Given the description of an element on the screen output the (x, y) to click on. 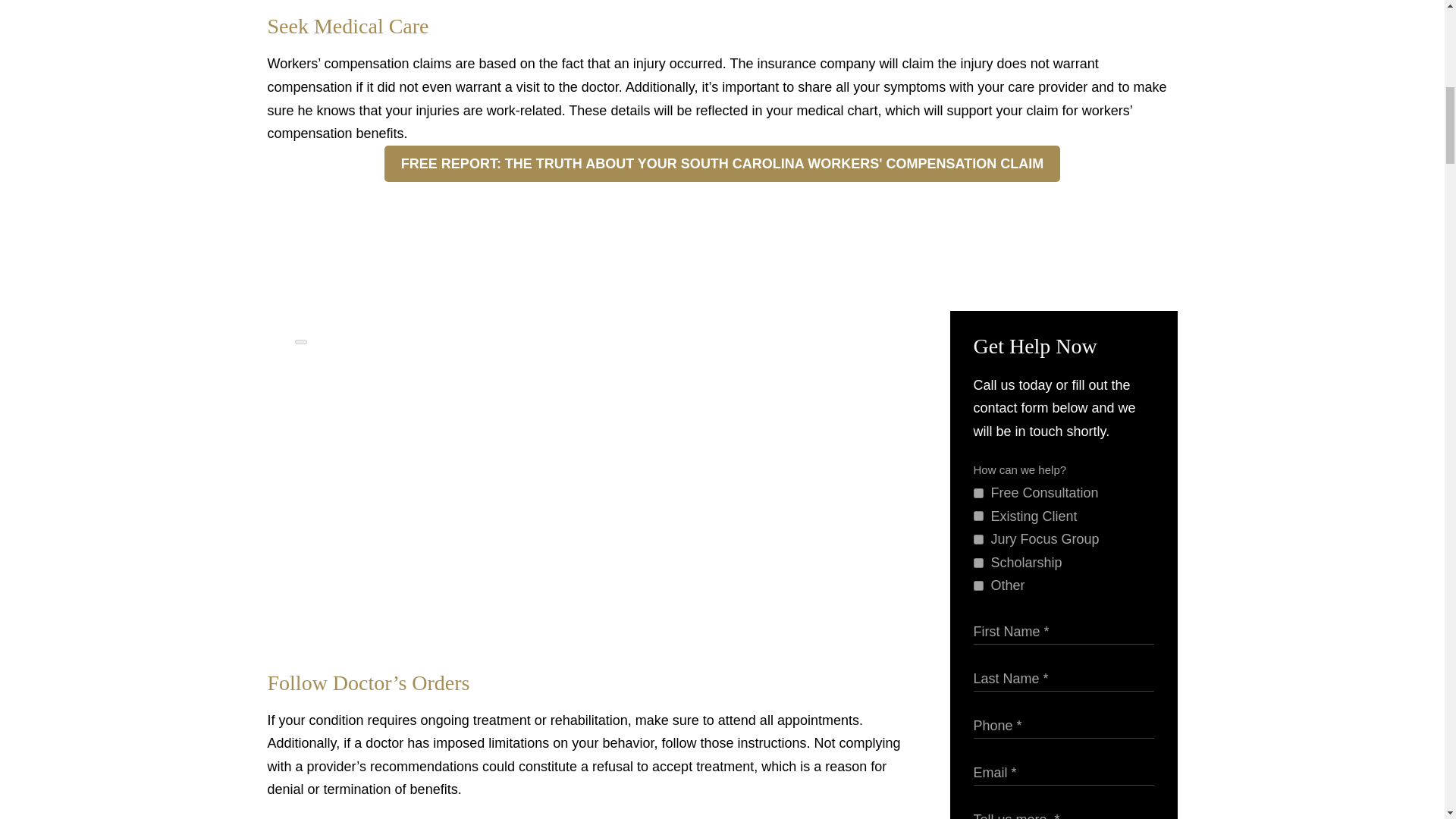
Jury Focus Group (979, 539)
Existing Client (979, 515)
Other (979, 585)
Scholarship (979, 562)
Free Consultation (979, 492)
